Given the description of an element on the screen output the (x, y) to click on. 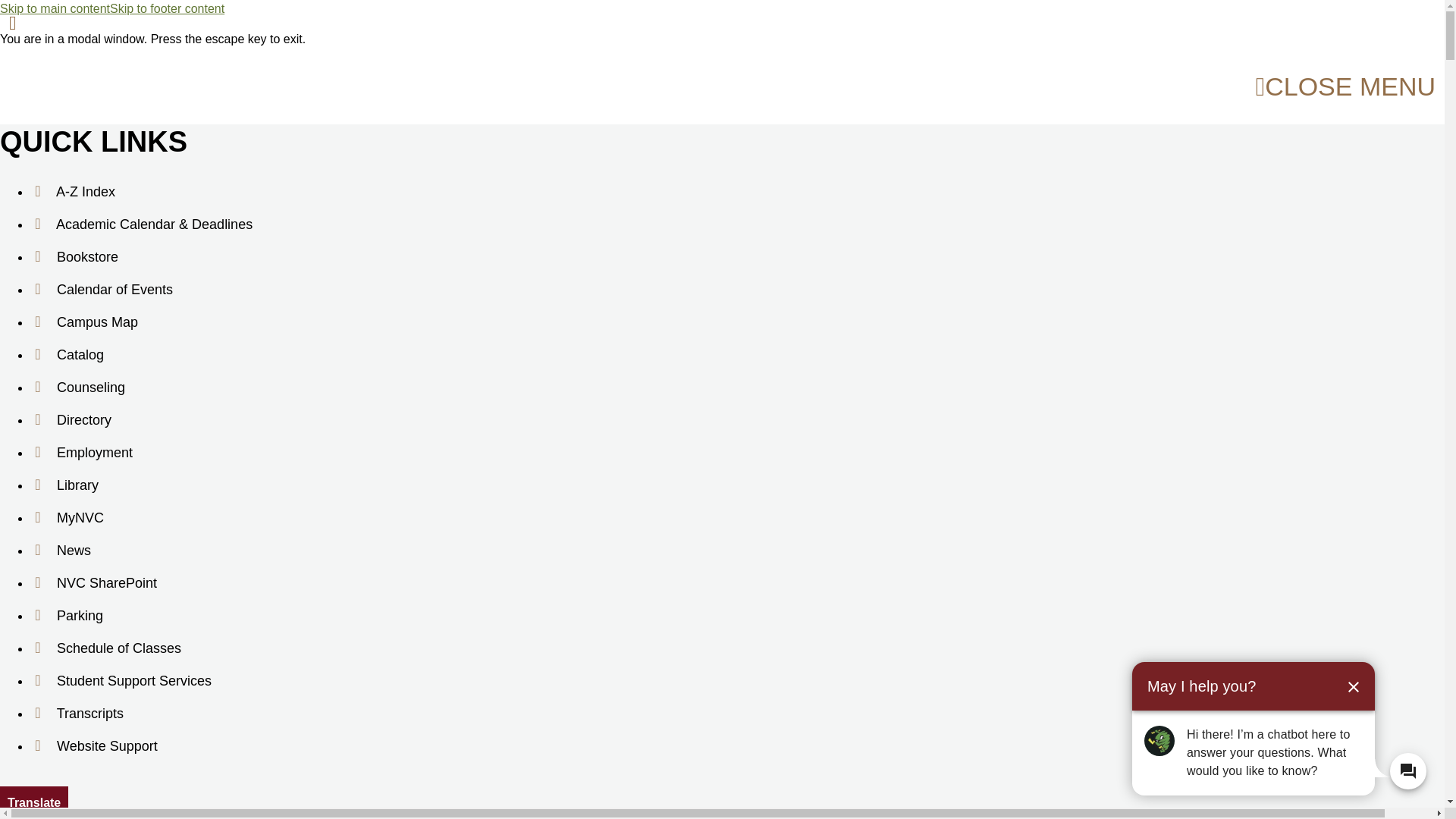
MyNVC (66, 518)
Schedule of Classes (105, 648)
Skip to main content (55, 8)
Counseling (77, 387)
CLOSE MENU (1345, 86)
Website Support (93, 745)
Library (64, 484)
Bookstore (73, 256)
Parking (66, 614)
Skip to footer content (167, 8)
News (60, 549)
Student Support Services (120, 680)
NVC SharePoint (93, 583)
Transcripts (76, 713)
Campus Map (84, 322)
